Given the description of an element on the screen output the (x, y) to click on. 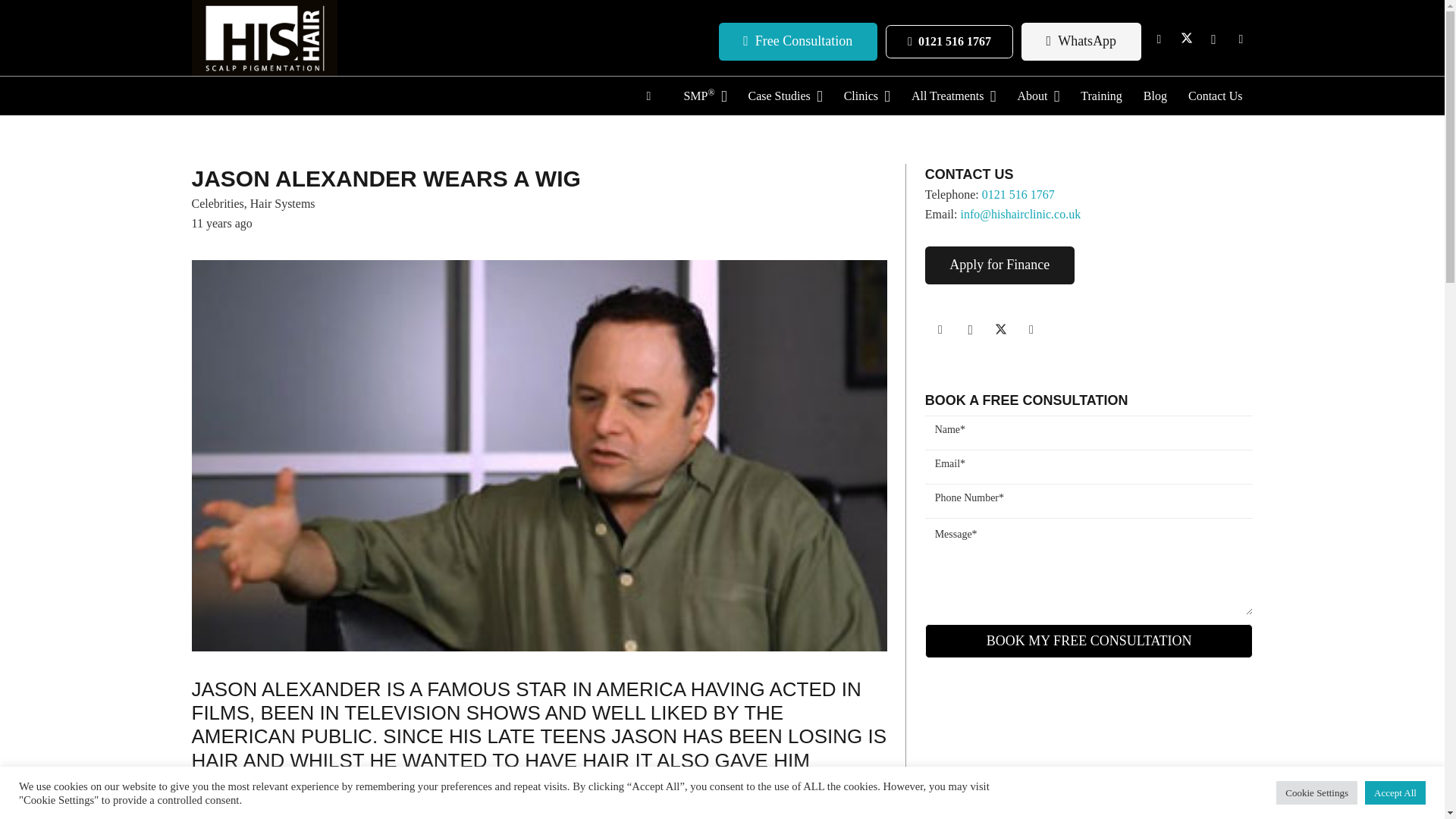
Case Studies (784, 96)
WhatsApp (1081, 41)
All Treatments (953, 96)
YouTube (1240, 39)
Clinics (866, 96)
0121 516 1767 (948, 41)
Twitter (1186, 39)
Facebook (1159, 39)
Instagram (1213, 39)
Free Consultation (798, 41)
BOOK MY FREE CONSULTATION (1088, 641)
